Given the description of an element on the screen output the (x, y) to click on. 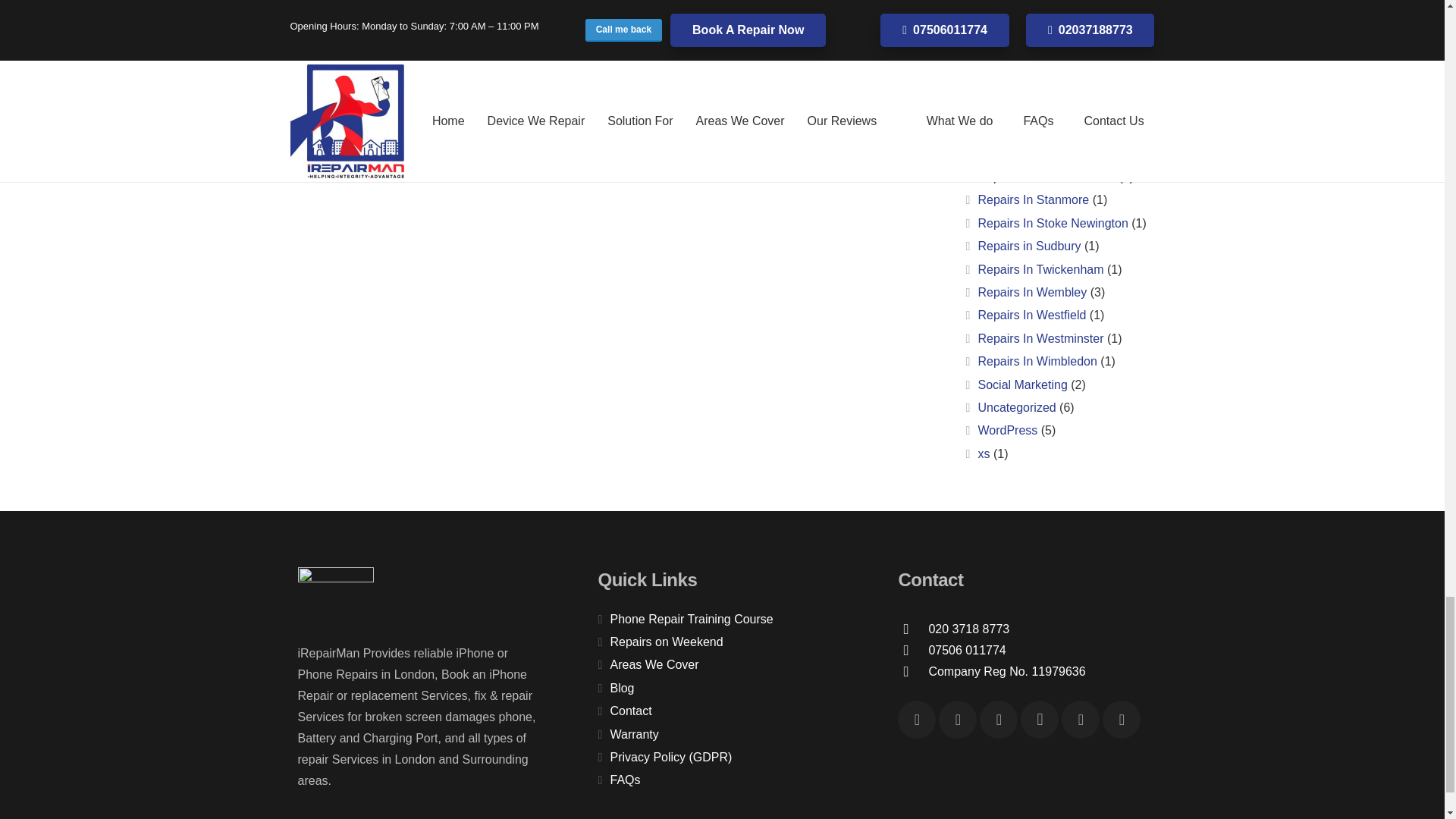
Twitter (998, 719)
YouTube (957, 719)
500px (1121, 719)
LinkedIn (1080, 719)
Facebook (917, 719)
Instagram (1039, 719)
